Given the description of an element on the screen output the (x, y) to click on. 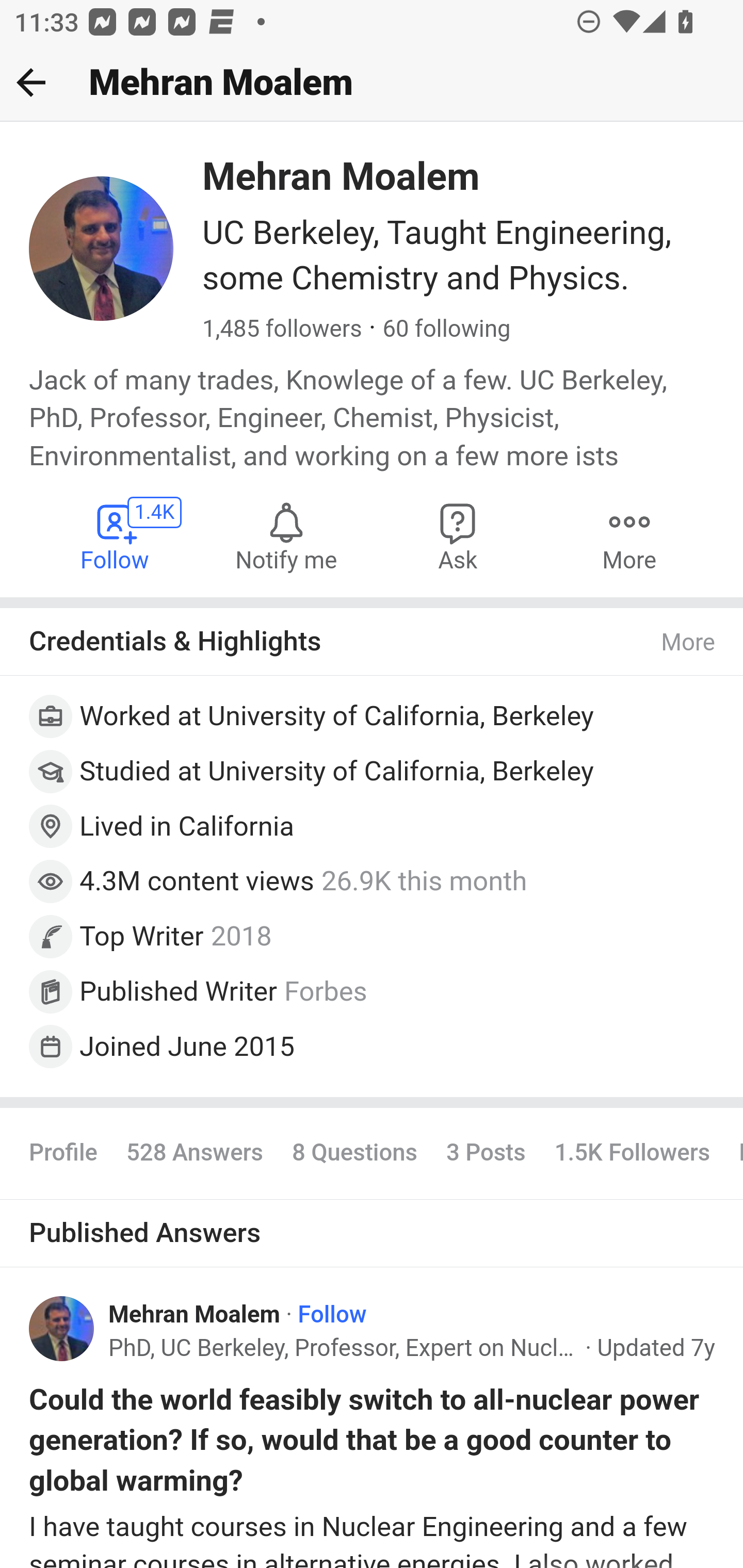
Back (30, 82)
1,485 followers (282, 329)
60 following (445, 329)
Follow Mehran Moalem 1.4K Follow (115, 536)
Notify me (285, 536)
Ask (458, 536)
More (628, 536)
More (688, 642)
Published Writer (178, 990)
Profile (63, 1153)
528 Answers (193, 1153)
8 Questions (354, 1153)
3 Posts (485, 1153)
1.5K Followers (631, 1153)
Profile photo for Mehran Moalem (61, 1328)
Mehran Moalem (194, 1314)
Follow (332, 1314)
